Given the description of an element on the screen output the (x, y) to click on. 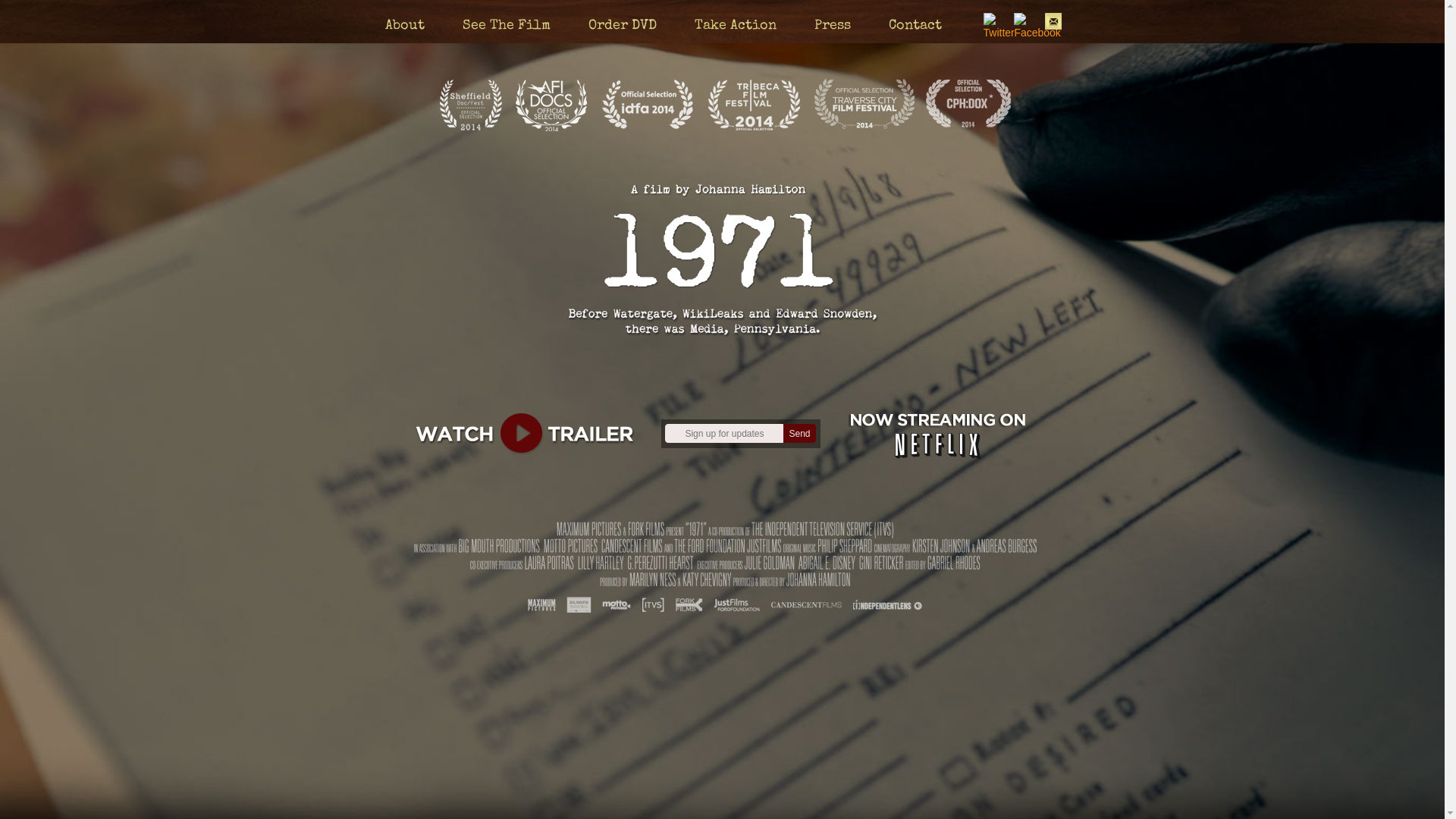
Send Element type: text (799, 432)
Email Us Element type: hover (1053, 20)
Twitter Element type: hover (991, 20)
About Element type: text (404, 25)
Facebook Element type: hover (1022, 20)
Take Action Element type: text (735, 25)
Press Element type: text (832, 25)
See The Film Element type: text (506, 25)
Order DVD Element type: text (622, 25)
Contact Element type: text (914, 25)
